Given the description of an element on the screen output the (x, y) to click on. 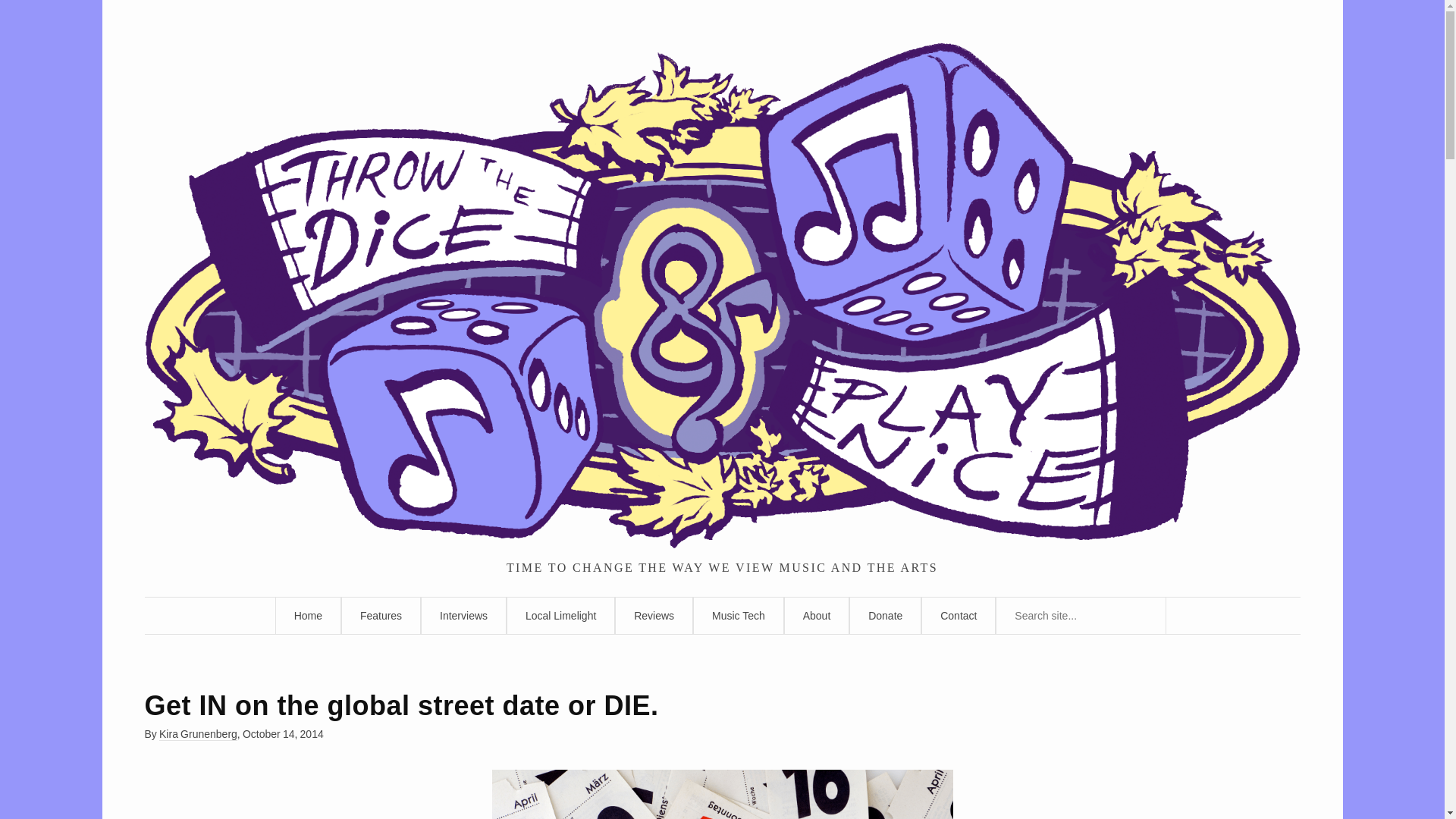
Contact (958, 615)
Features (380, 615)
Music Tech (738, 615)
Interviews (463, 615)
Donate (884, 615)
Local Limelight (560, 615)
Posts by Kira Grunenberg (197, 734)
Reviews (653, 615)
Kira Grunenberg (197, 734)
